Given the description of an element on the screen output the (x, y) to click on. 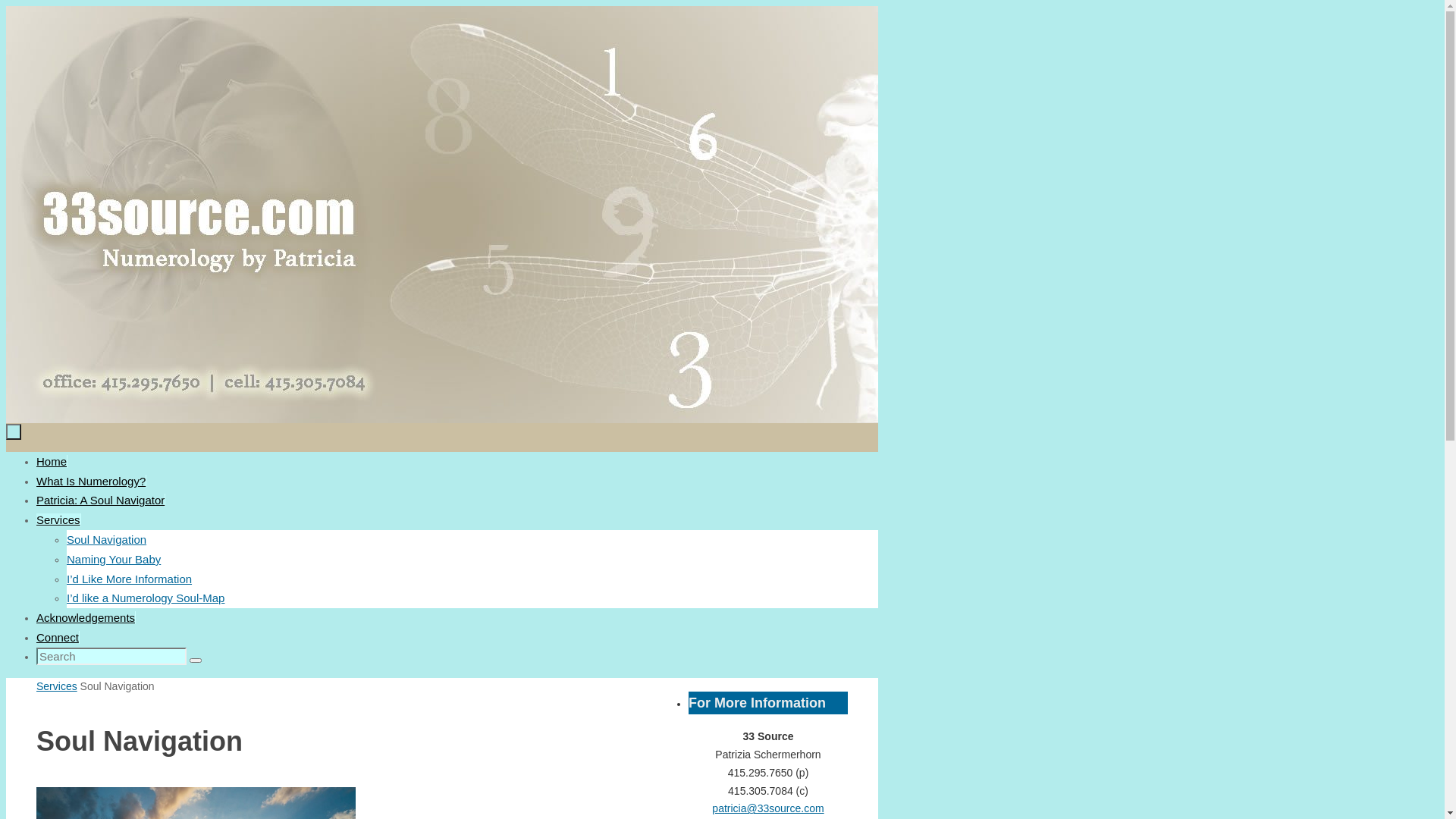
Home Element type: text (51, 461)
Services Element type: text (58, 519)
What Is Numerology? Element type: text (90, 480)
Connect Element type: text (57, 636)
Soul Navigation Element type: text (106, 539)
Search Element type: text (195, 660)
Naming Your Baby Element type: text (113, 558)
Acknowledgements Element type: text (85, 617)
Skip to content Element type: text (5, 5)
Patricia: A Soul Navigator Element type: text (100, 499)
patricia@33source.com Element type: text (767, 808)
  Element type: text (13, 431)
Services Element type: text (56, 686)
